Given the description of an element on the screen output the (x, y) to click on. 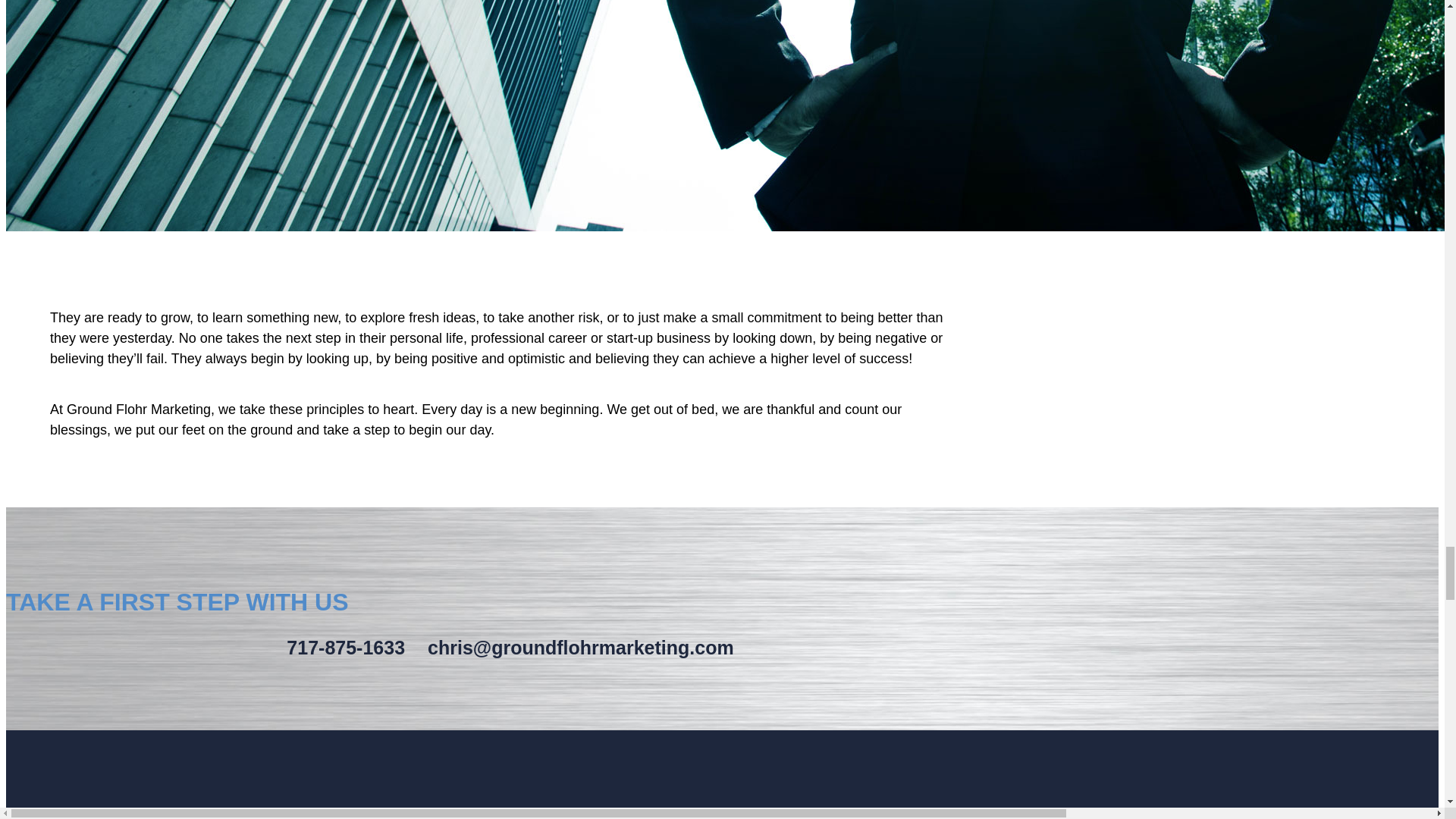
717-875-1633 (345, 647)
